Given the description of an element on the screen output the (x, y) to click on. 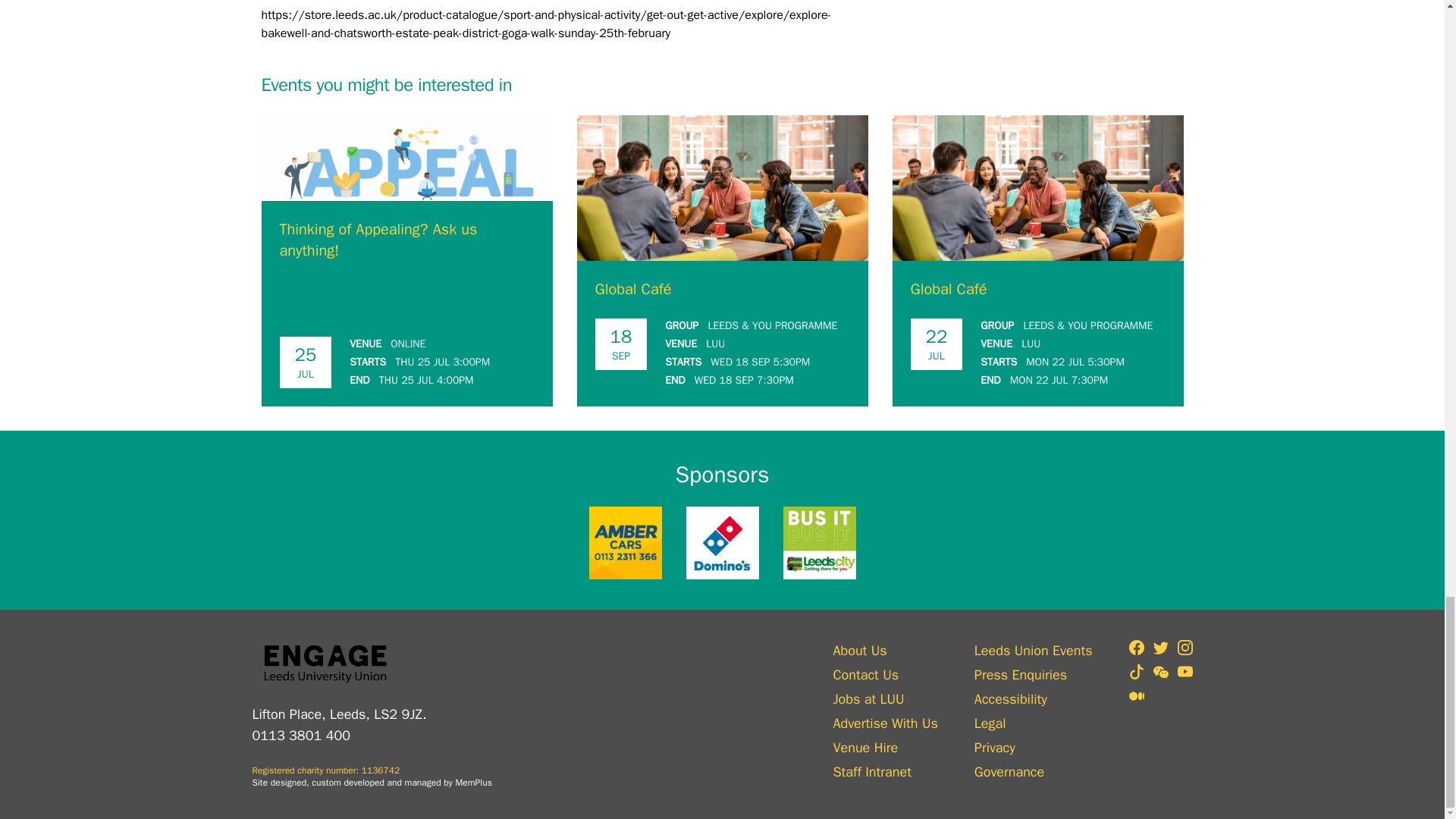
Advertise With Us (884, 722)
Contact Us (884, 674)
Jobs at LUU (884, 699)
Thinking of Appealing? Ask us anything! (378, 240)
About Us (884, 649)
Staff Intranet (884, 771)
Venue Hire (884, 747)
